Given the description of an element on the screen output the (x, y) to click on. 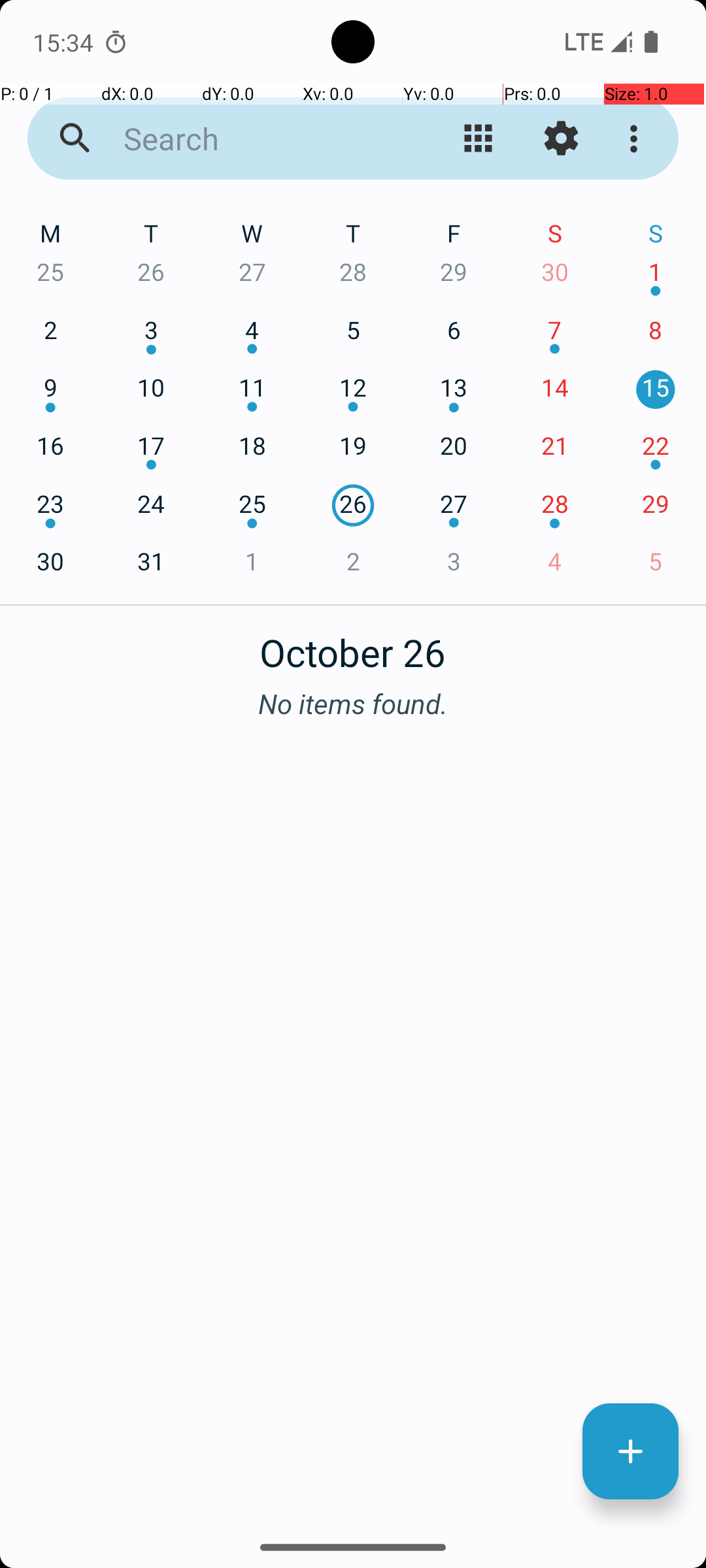
October 26 Element type: android.widget.TextView (352, 644)
